Given the description of an element on the screen output the (x, y) to click on. 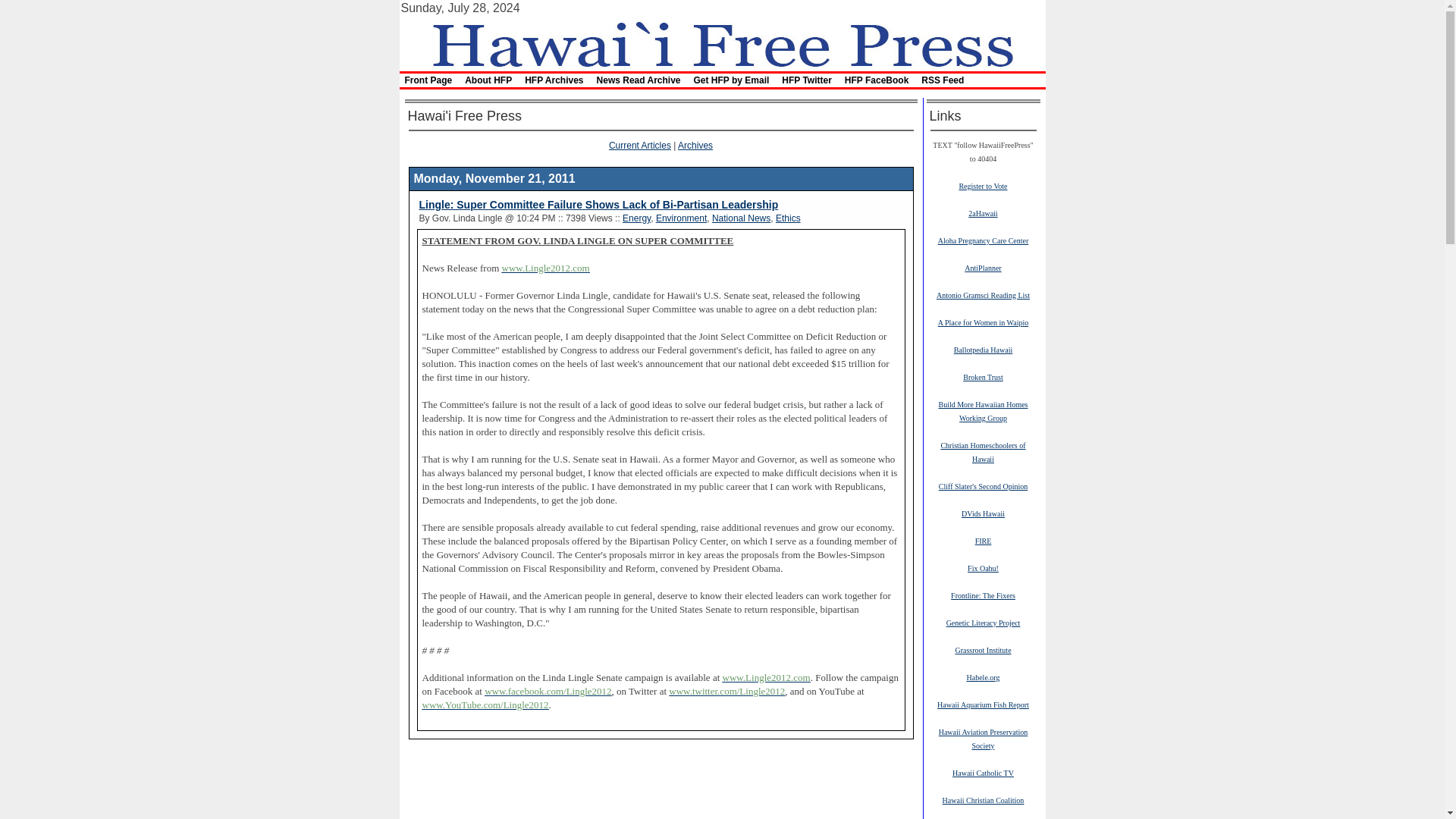
Hawaii Catholic TV (982, 772)
www.Lingle2012.com (545, 267)
Hawaii Aquarium Fish Report (983, 704)
2aHawaii (982, 213)
AntiPlanner (982, 267)
Ethics (788, 217)
Genetic Literacy Project (983, 622)
Broken Trust (982, 376)
Antonio Gramsci Reading List (982, 294)
Hawaii Aviation Preservation Society (983, 738)
Christian Homeschoolers of Hawaii (982, 451)
Environment (681, 217)
Grassroot Institute (982, 649)
Energy (636, 217)
FIRE (983, 540)
